Given the description of an element on the screen output the (x, y) to click on. 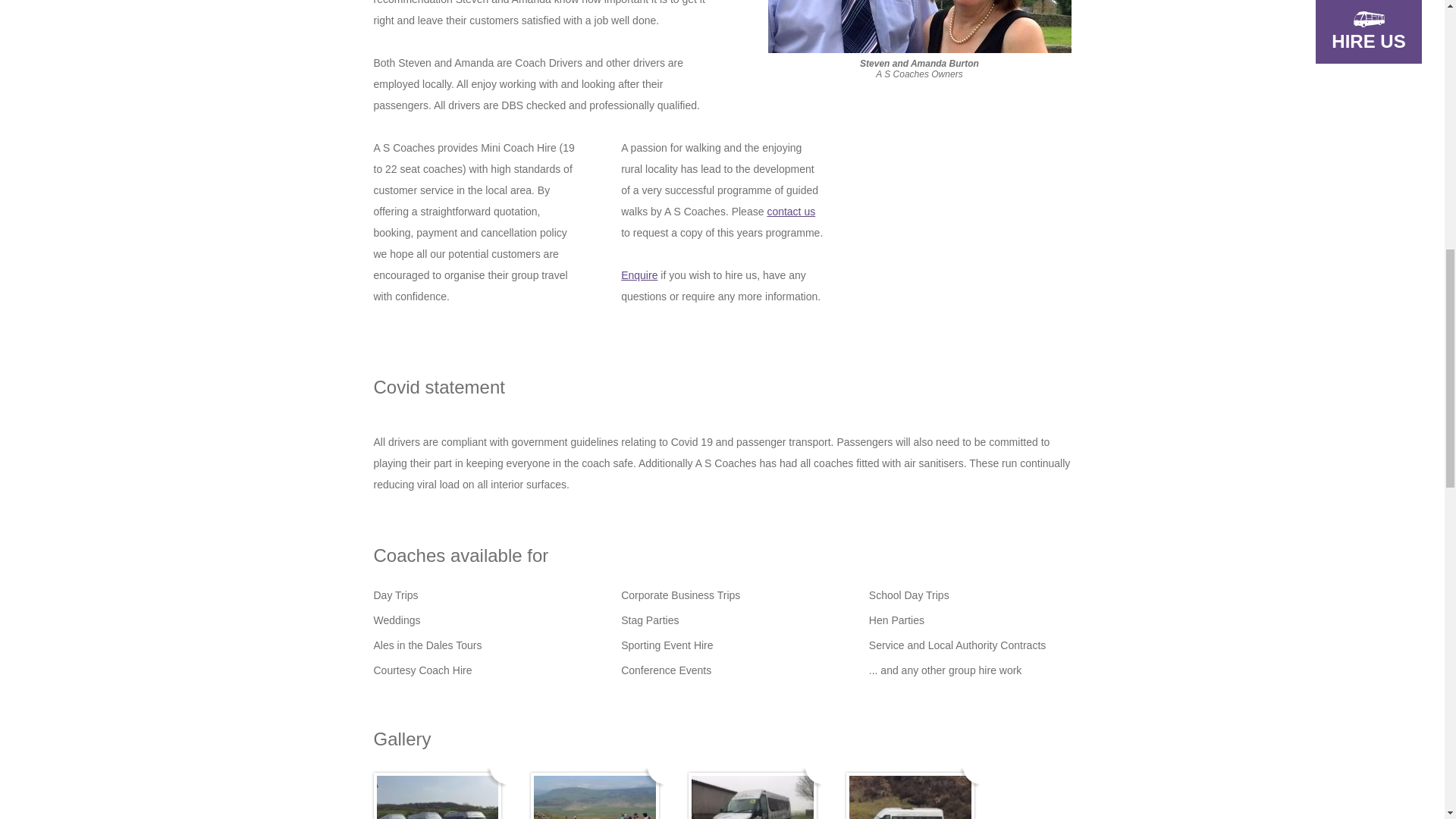
contact us (791, 211)
Enquire (639, 275)
